Given the description of an element on the screen output the (x, y) to click on. 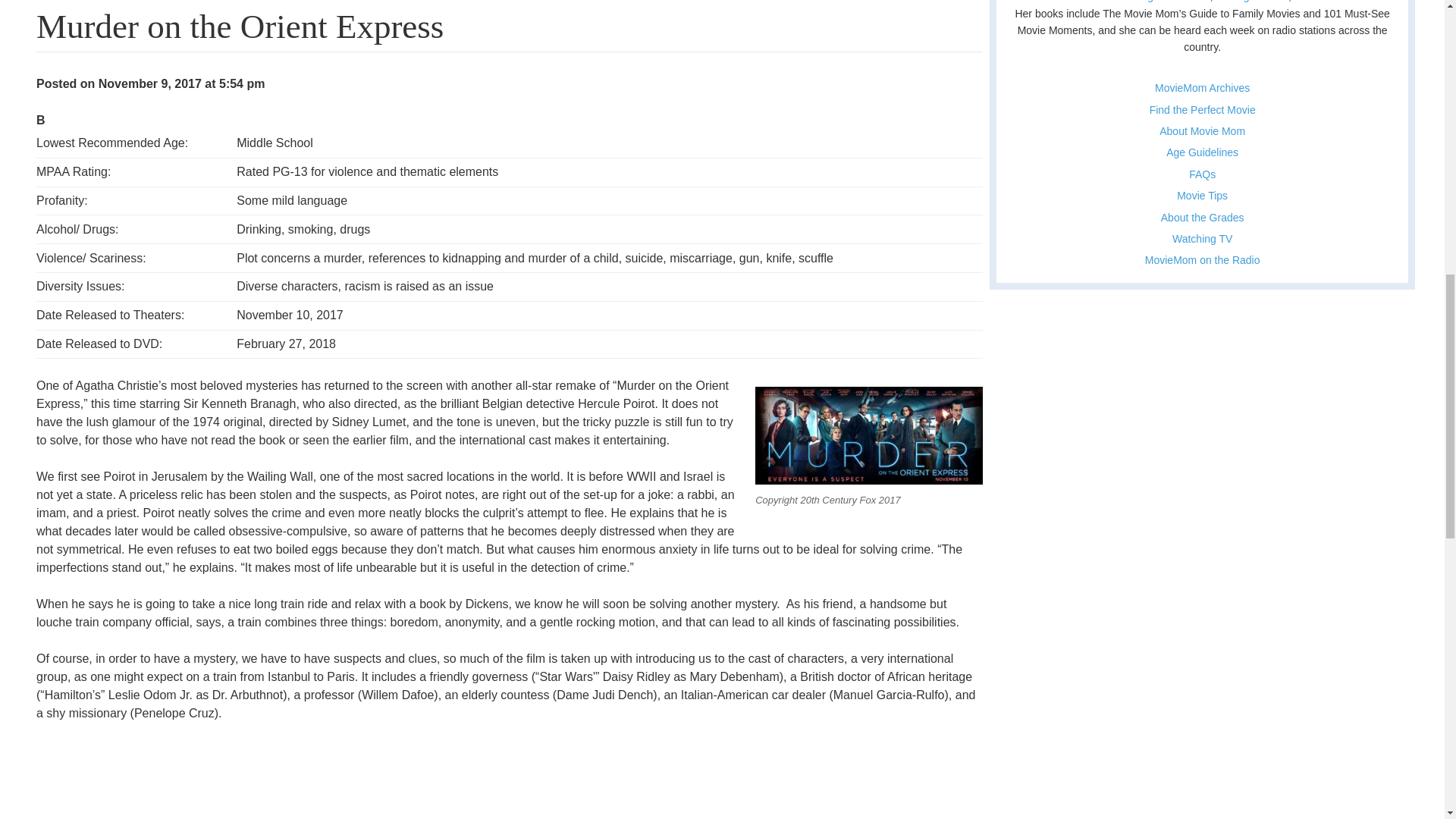
Find the Perfect Movie (1202, 110)
Huffington Post (1251, 1)
MovieMom Archives (1201, 87)
Watching TV (1201, 238)
Rogerebert.com (1171, 1)
MovieMom on the Radio (1202, 259)
About Movie Mom (1201, 131)
Movie Tips (1201, 195)
About the Grades (1202, 217)
WheretoWatch (1349, 1)
